Given the description of an element on the screen output the (x, y) to click on. 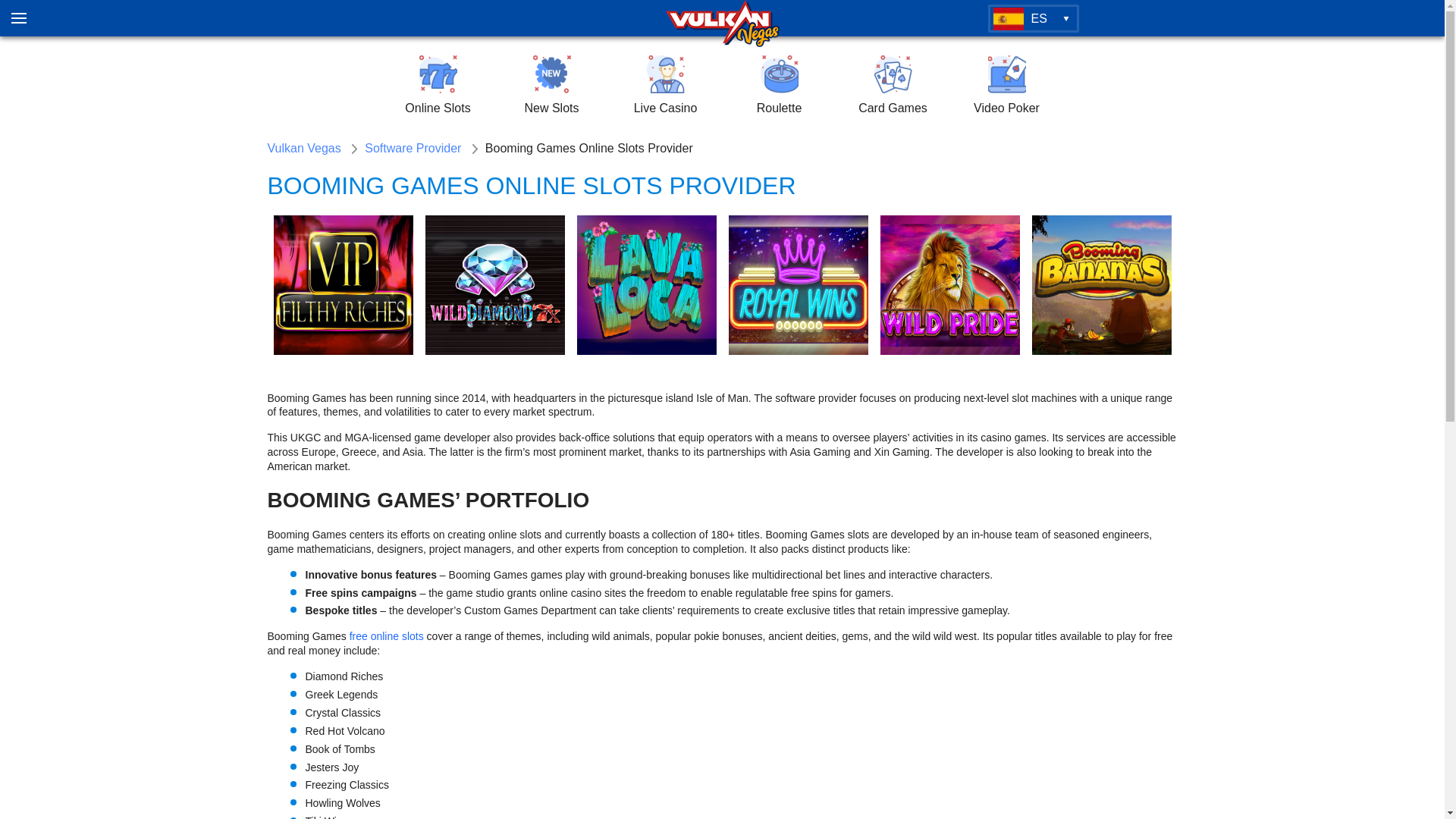
Vulkan Vegas (303, 148)
New Slots (551, 85)
free online slots (386, 635)
Card Games (892, 85)
Video Poker (1005, 85)
Roulette (778, 85)
Live Casino (665, 85)
Online Slots (437, 85)
Software Provider (413, 148)
